Given the description of an element on the screen output the (x, y) to click on. 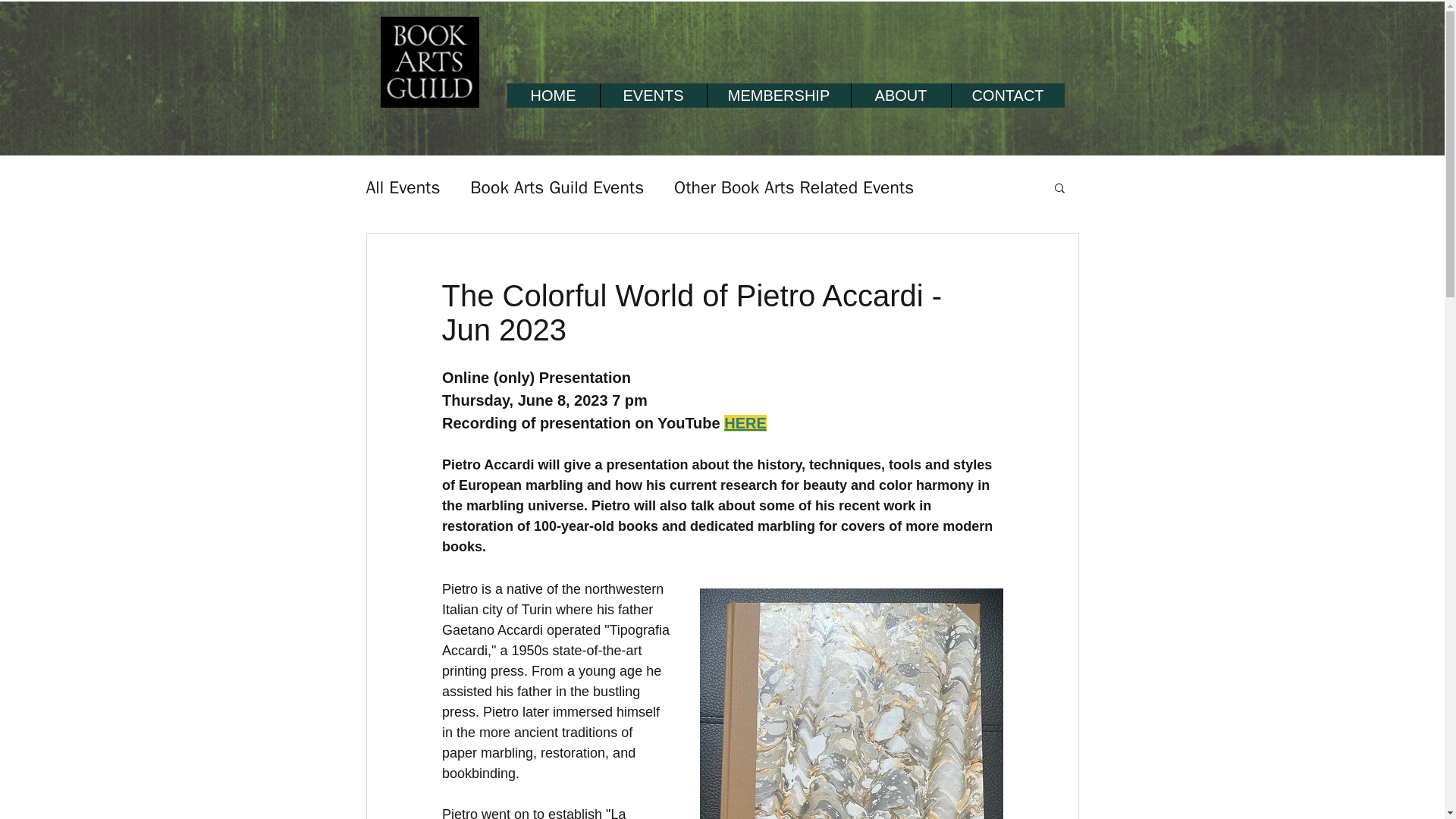
Other Book Arts Related Events (794, 187)
EVENTS (652, 95)
HOME (552, 95)
ABOUT (900, 95)
CONTACT (1007, 95)
Book Arts Guild Events (556, 187)
MEMBERSHIP (778, 95)
All Events (402, 187)
HERE (745, 423)
